Given the description of an element on the screen output the (x, y) to click on. 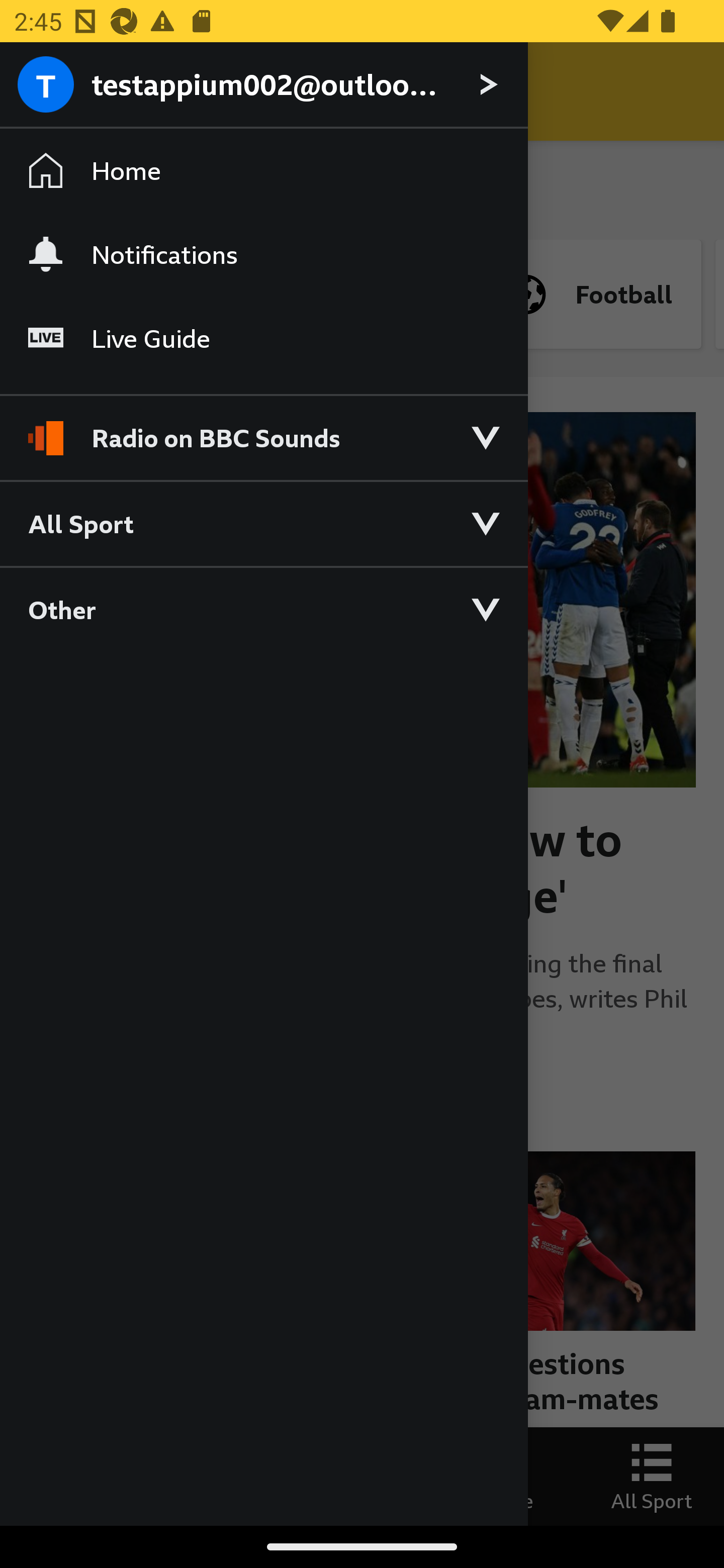
testappium002@outlook.com (263, 85)
Home (263, 170)
Notifications (263, 253)
Live Guide (263, 338)
Radio on BBC Sounds (263, 429)
All Sport (263, 522)
Other (263, 609)
